Given the description of an element on the screen output the (x, y) to click on. 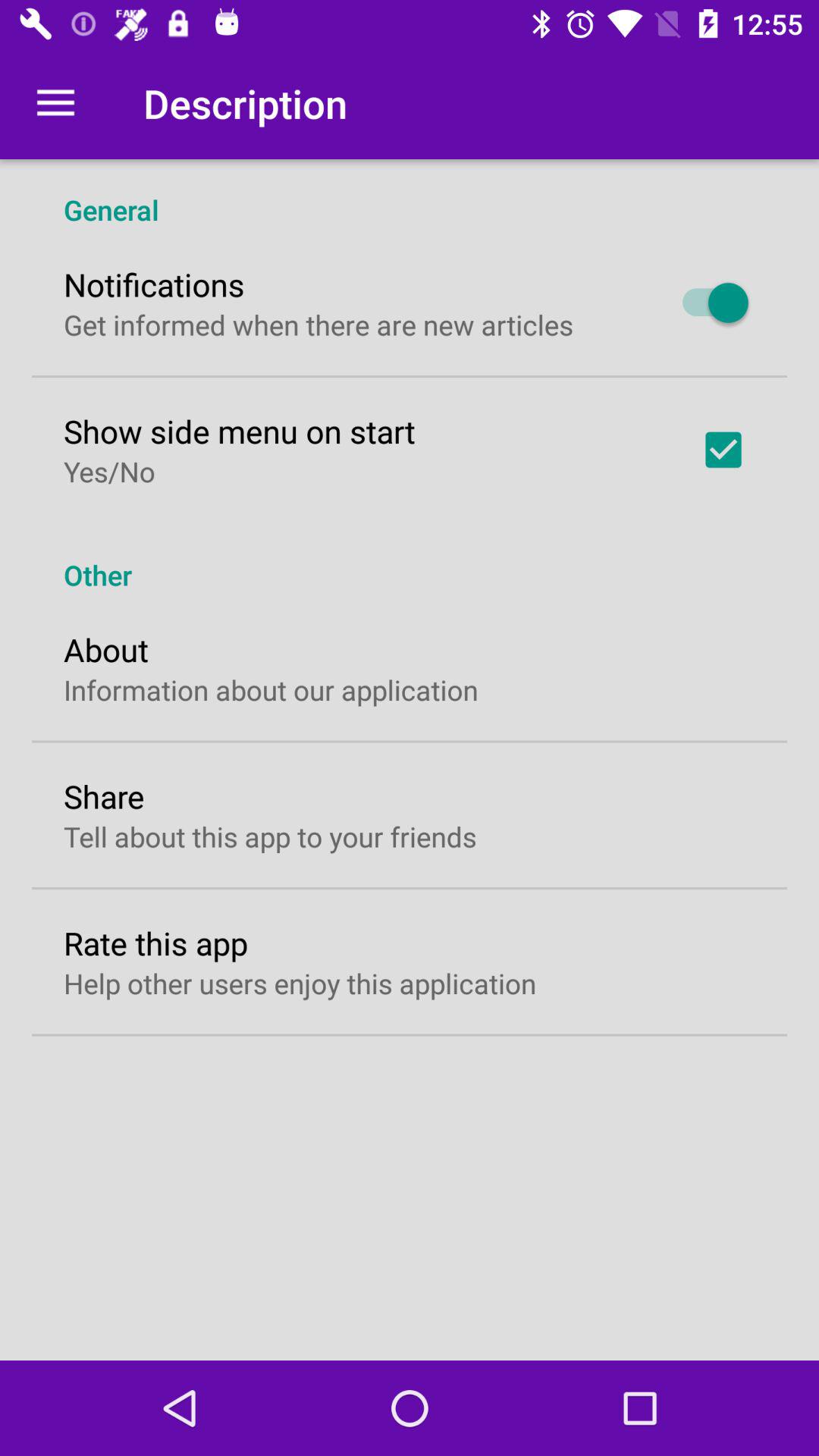
choose the general item (409, 193)
